Given the description of an element on the screen output the (x, y) to click on. 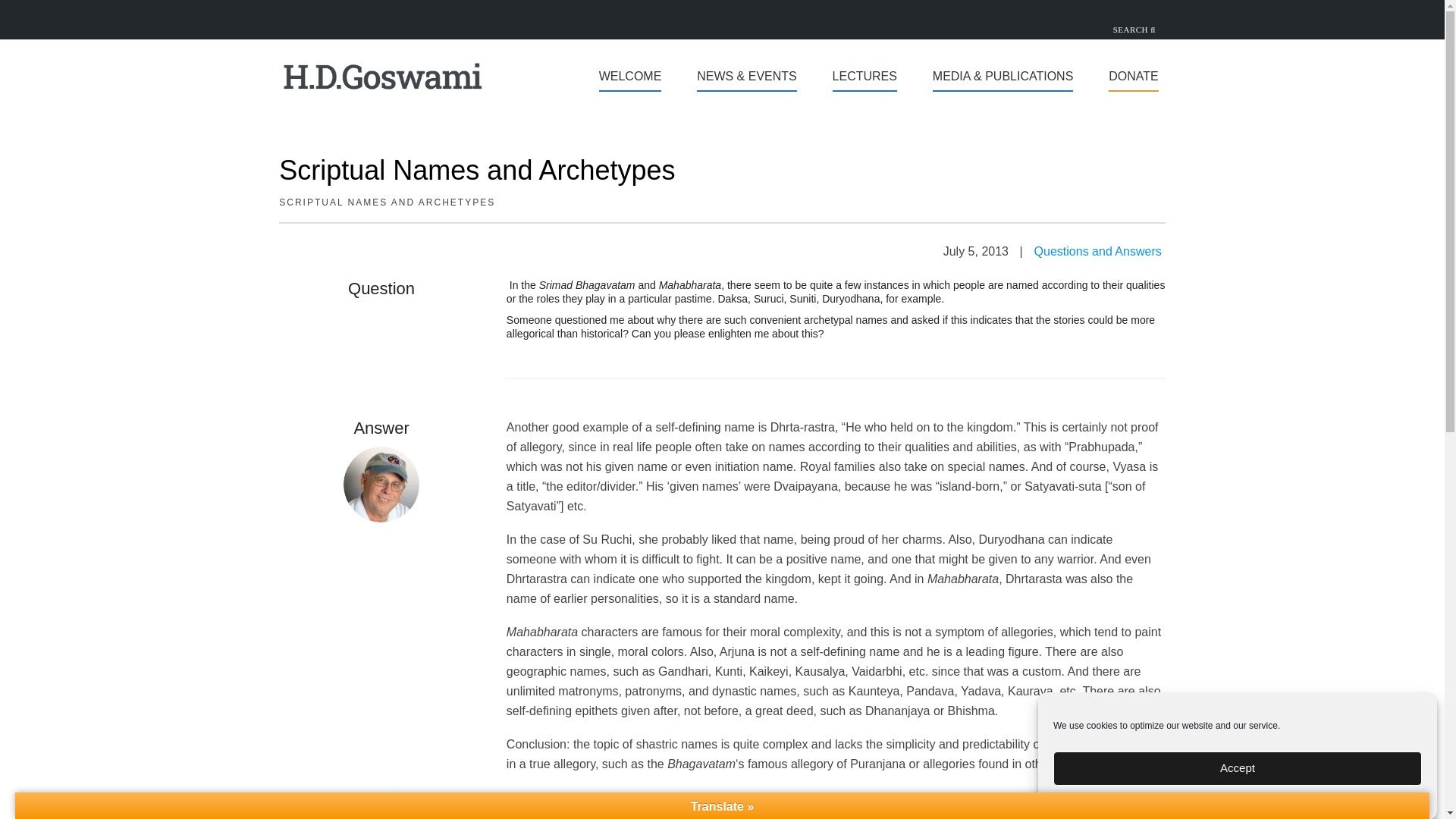
LECTURES (864, 78)
Search (26, 12)
H.D. Goswami Profile Picture (381, 484)
H.D.Goswami (382, 115)
WELCOME (630, 78)
